Given the description of an element on the screen output the (x, y) to click on. 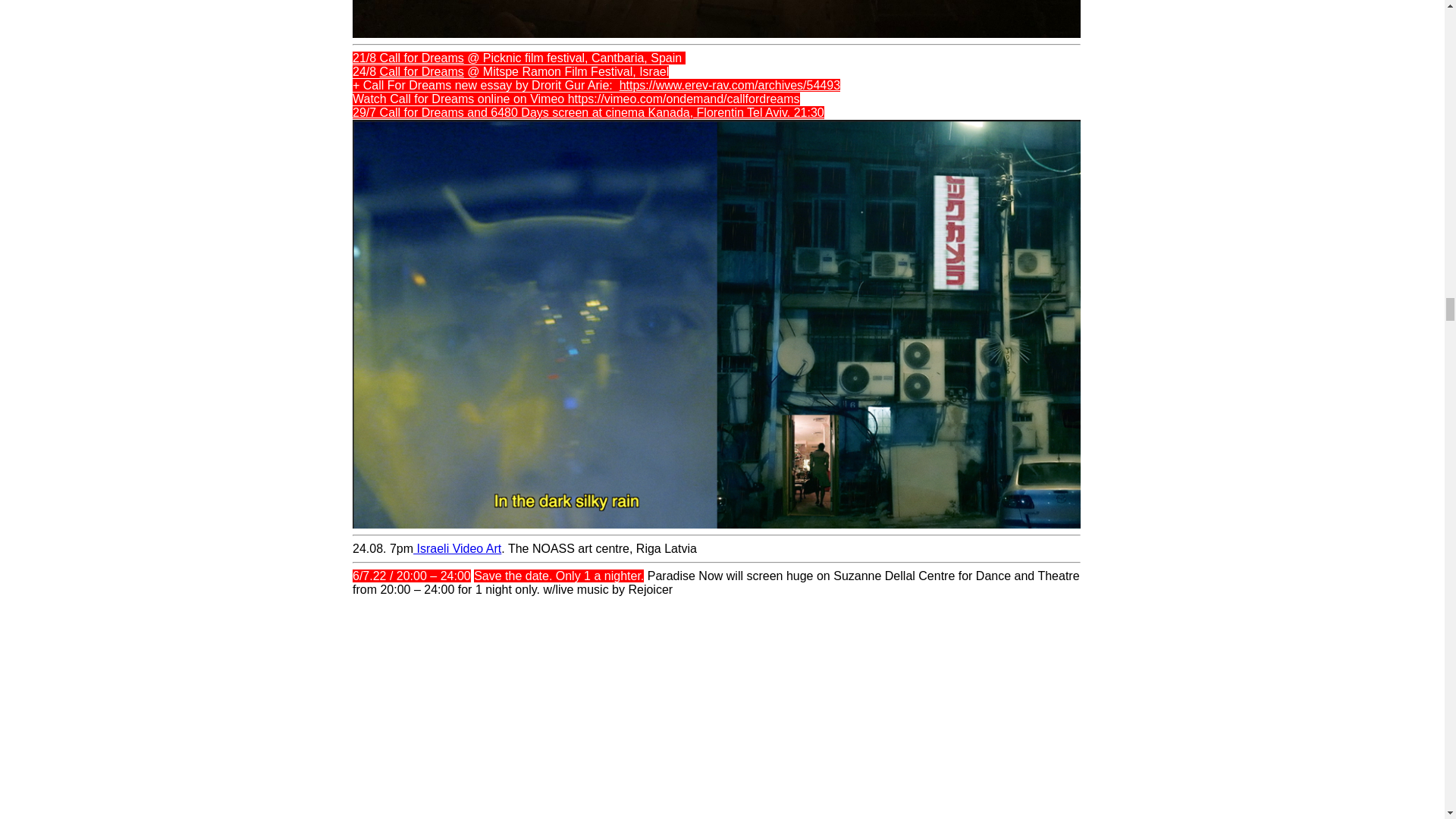
Call for Dreams (422, 71)
Israeli Video Art (456, 548)
